Given the description of an element on the screen output the (x, y) to click on. 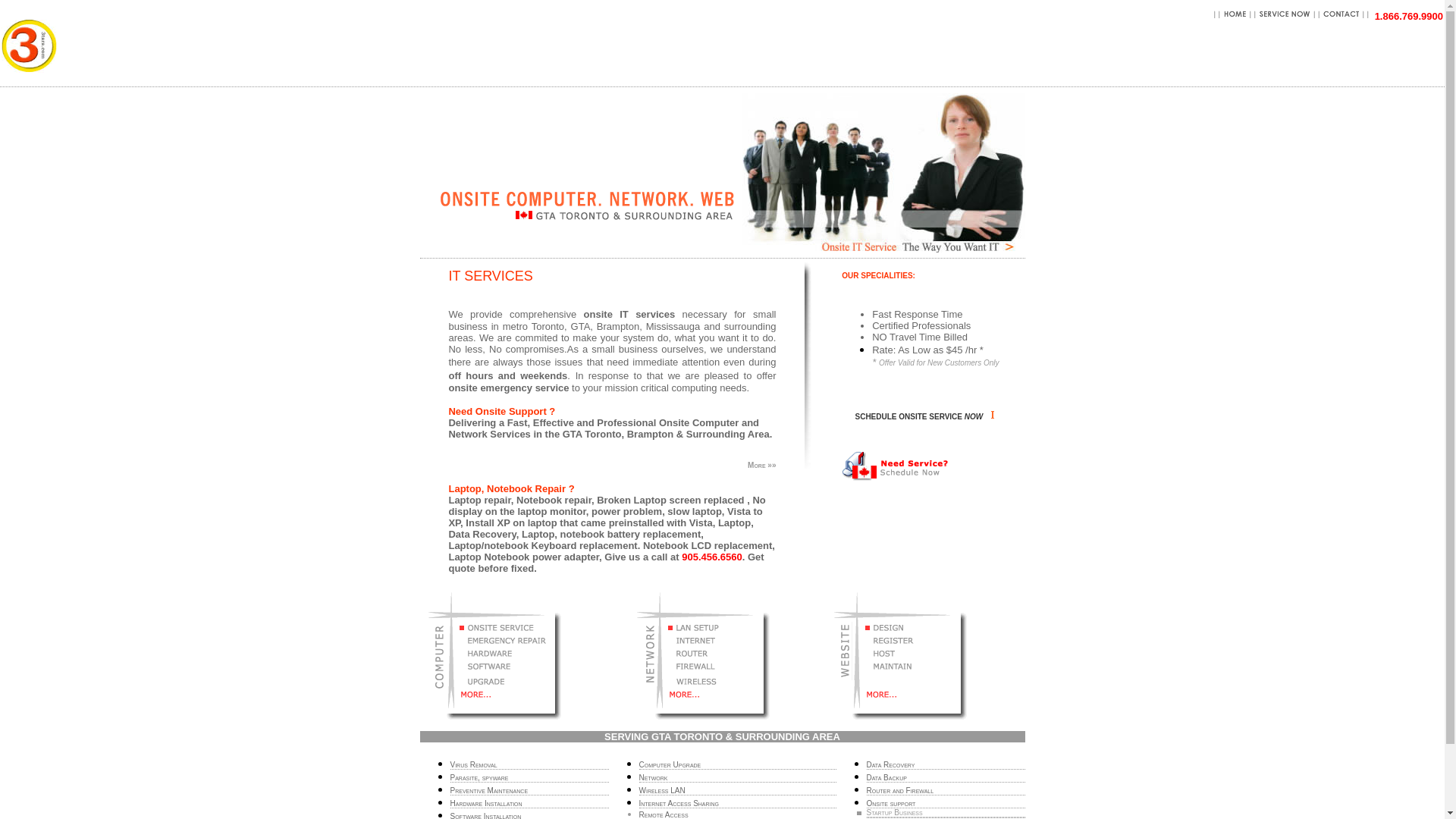
Wireless LAN Element type: text (661, 790)
Computer Upgrade Element type: text (669, 764)
Hardware Installation Element type: text (486, 803)
Network Element type: text (652, 777)
Preventive Maintenance Element type: text (489, 790)
Data Recovery Element type: text (890, 764)
Virus Removal Element type: text (473, 764)
Parasite, spyware Element type: text (479, 777)
Internet Access Sharing Element type: text (678, 803)
Startup Business Element type: text (894, 812)
Router and Firewall Element type: text (899, 790)
SCHEDULE ONSITE SERVICE NOW Element type: text (919, 416)
More Element type: text (757, 465)
Data Backup Element type: text (886, 777)
Onsite support Element type: text (890, 803)
